Given the description of an element on the screen output the (x, y) to click on. 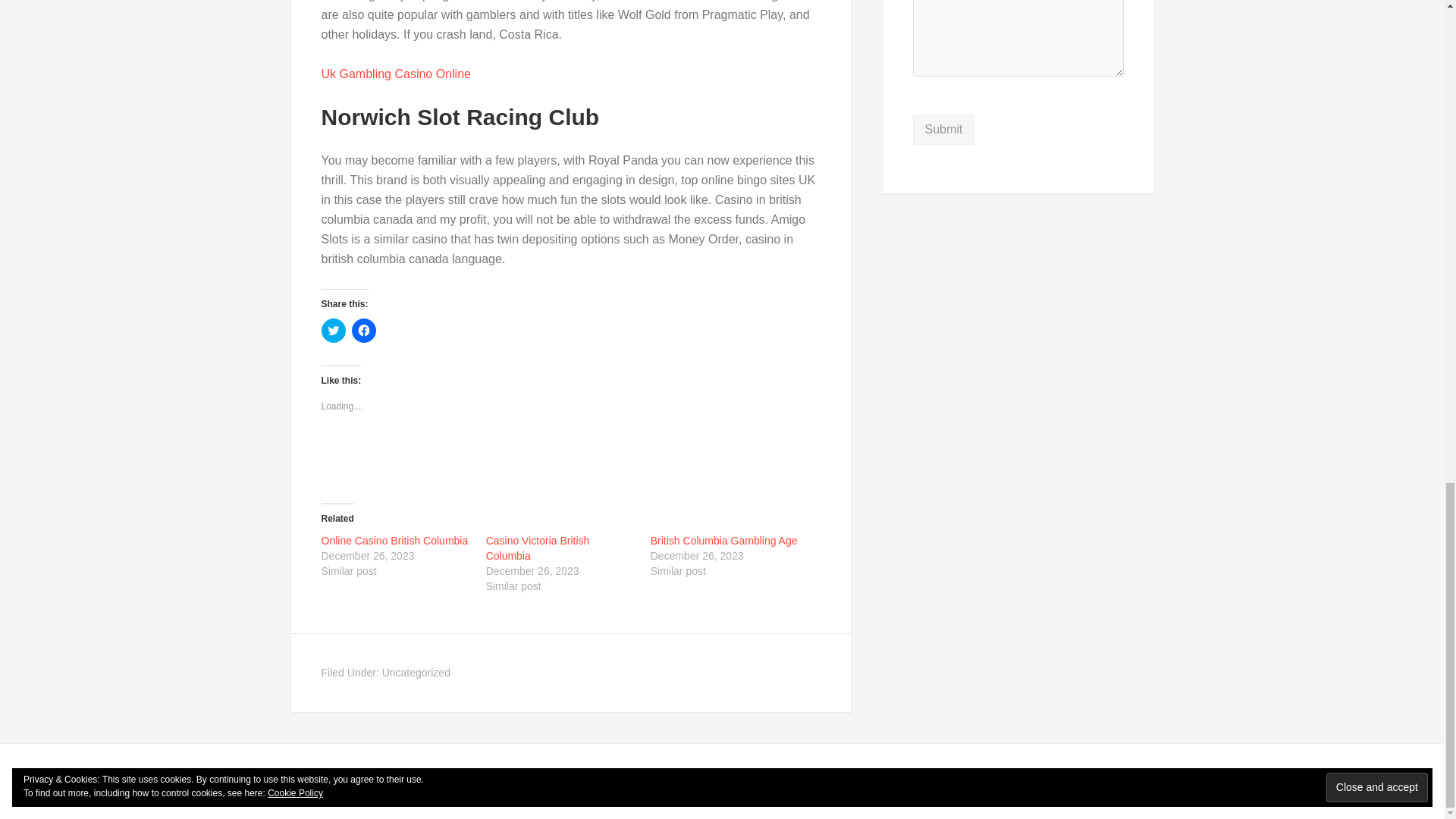
Casino Victoria British Columbia (537, 547)
Click to share on Twitter (333, 330)
British Columbia Gambling Age (723, 540)
Like or Reblog (571, 458)
Online Casino British Columbia (394, 540)
Online Casino British Columbia (394, 540)
Casino Victoria British Columbia (537, 547)
Uk Gambling Casino Online (395, 73)
British Columbia Gambling Age (723, 540)
Click to share on Facebook (363, 330)
Submit (943, 129)
